Given the description of an element on the screen output the (x, y) to click on. 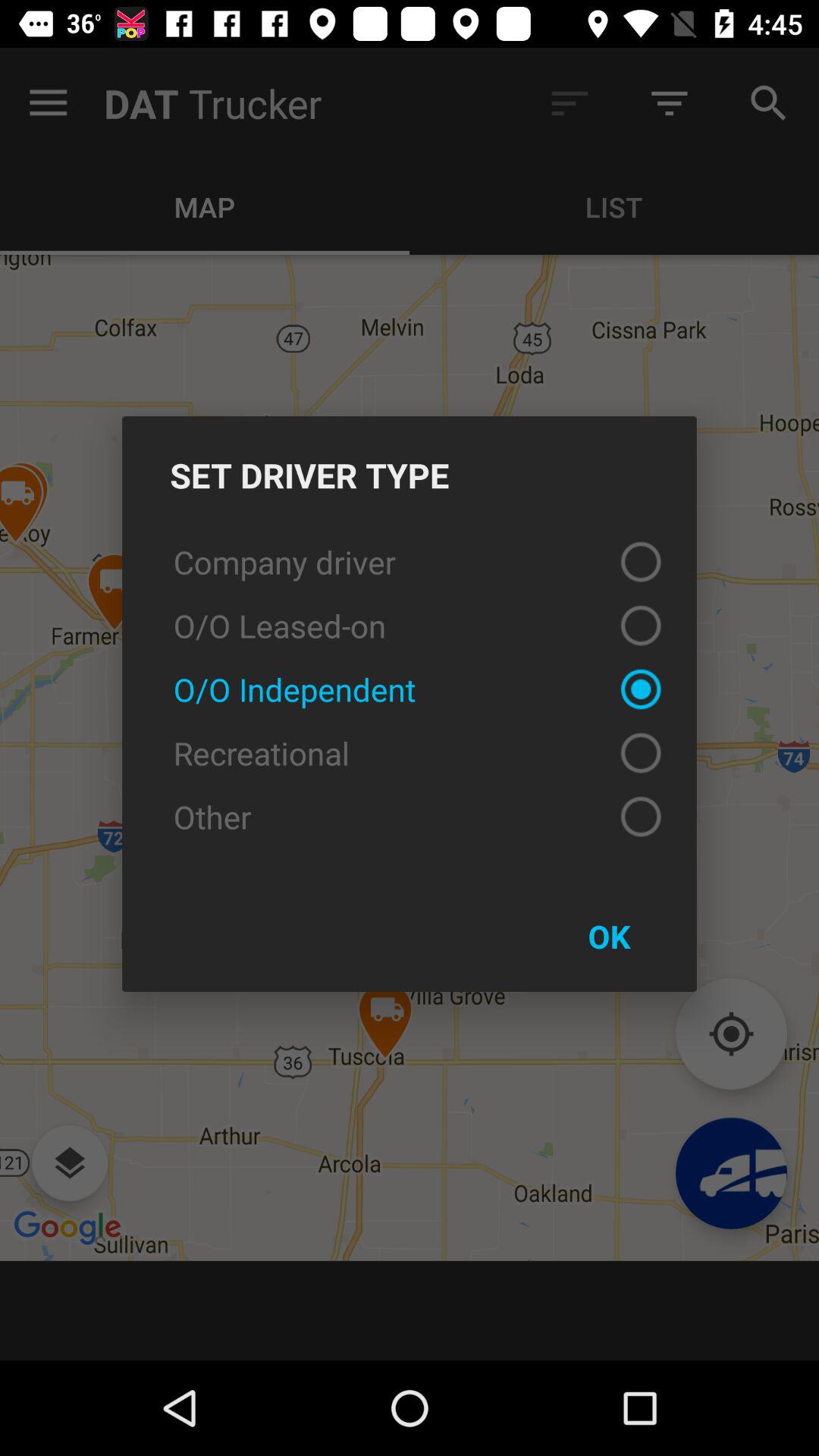
turn on icon above ok item (409, 816)
